Given the description of an element on the screen output the (x, y) to click on. 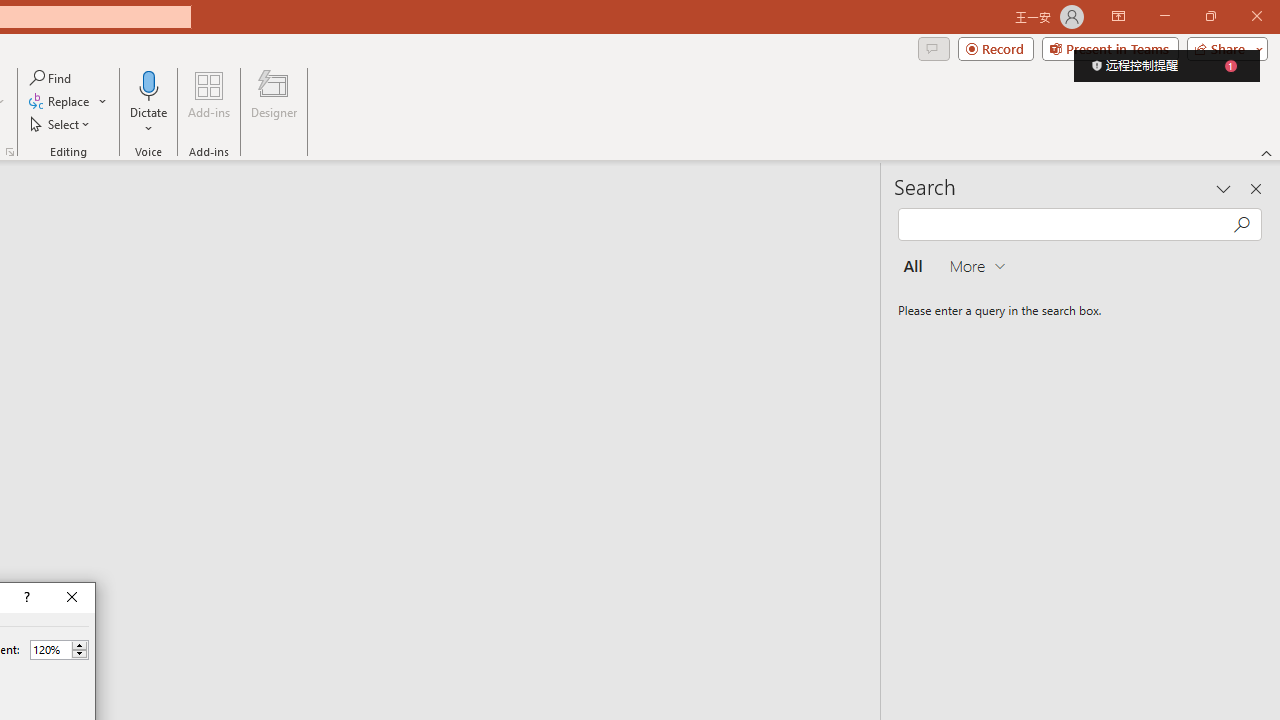
Find... (51, 78)
Select (61, 124)
Designer (274, 102)
Percent (50, 649)
Context help (25, 597)
More (79, 645)
Format Object... (9, 151)
